Given the description of an element on the screen output the (x, y) to click on. 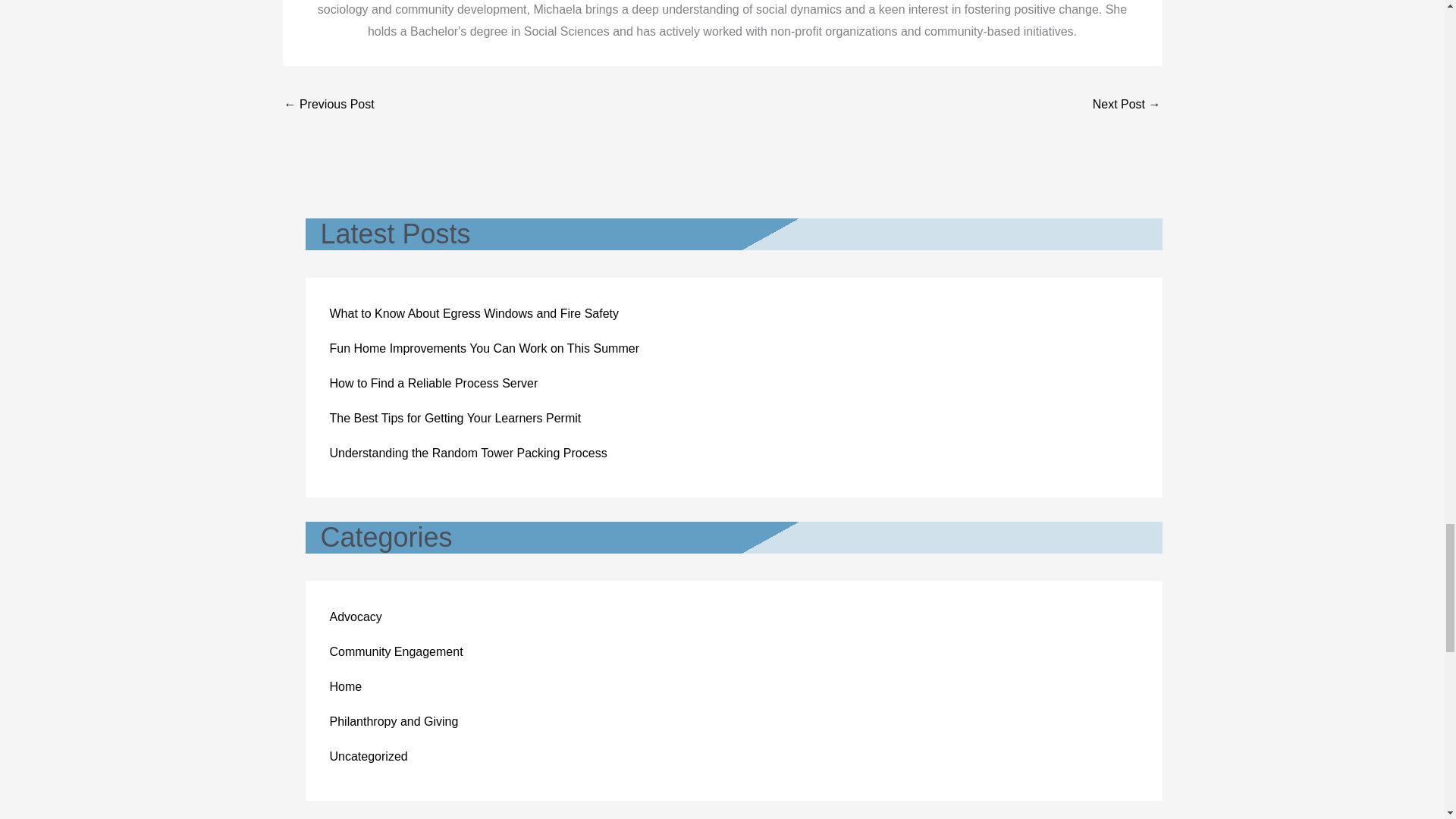
What to Know About Egress Windows and Fire Safety (473, 313)
Uncategorized (368, 756)
Advocacy (355, 616)
Home (345, 686)
Fun Home Improvements You Can Work on This Summer (484, 348)
Understanding the Random Tower Packing Process (468, 452)
The Best Tips for Getting Your Learners Permit (454, 418)
Community Engagement (396, 651)
How to Find a Reliable Process Server (433, 382)
